Given the description of an element on the screen output the (x, y) to click on. 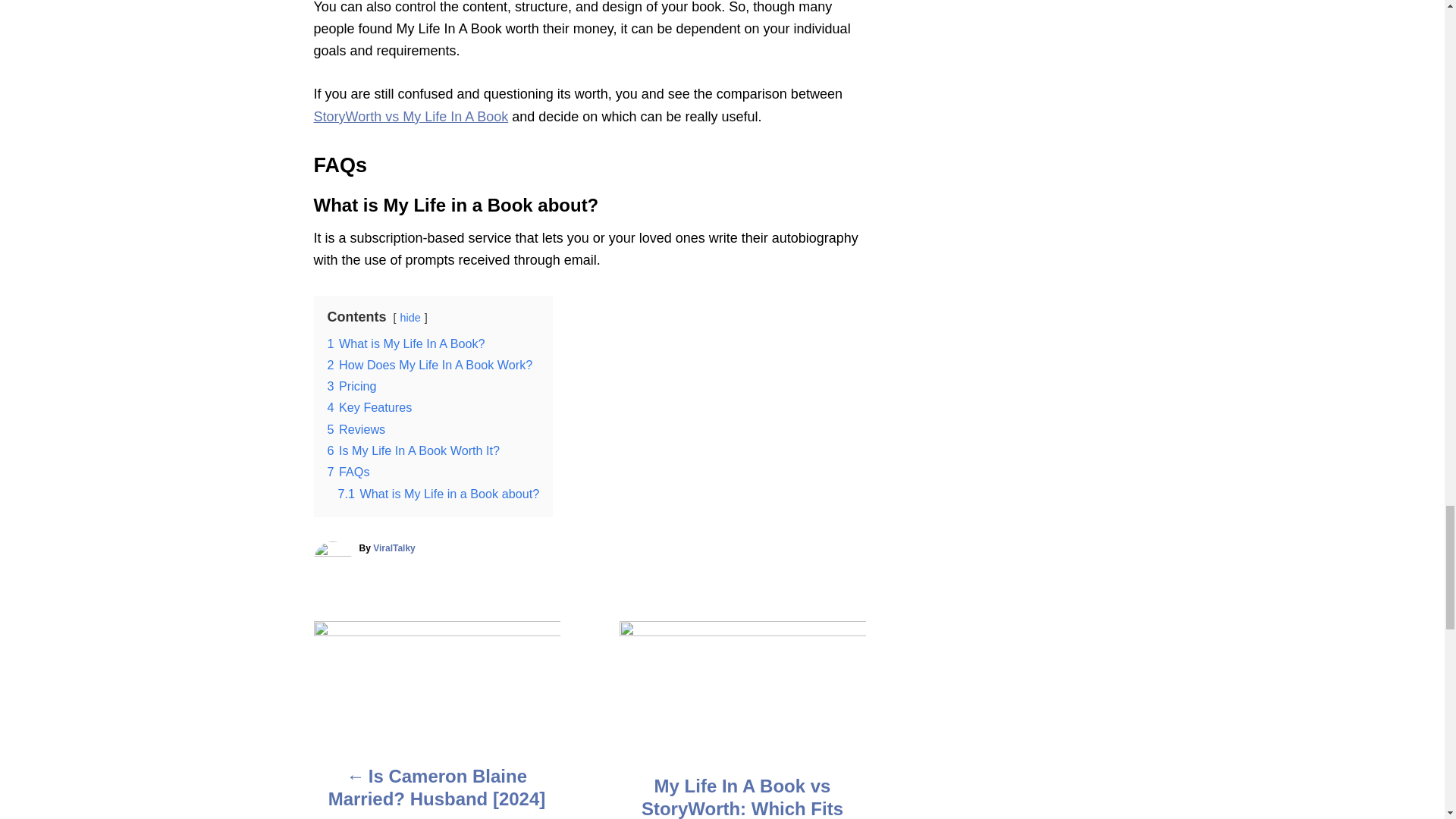
7.1 What is My Life in a Book about? (438, 493)
7 FAQs (348, 471)
My Life In A Book vs StoryWorth: Which Fits Your Story? (741, 796)
StoryWorth vs My Life In A Book (411, 116)
5 Reviews (356, 428)
1 What is My Life In A Book? (405, 343)
4 Key Features (369, 407)
hide (410, 317)
3 Pricing (352, 386)
6 Is My Life In A Book Worth It? (413, 450)
ViralTalky (393, 547)
2 How Does My Life In A Book Work? (429, 364)
